Given the description of an element on the screen output the (x, y) to click on. 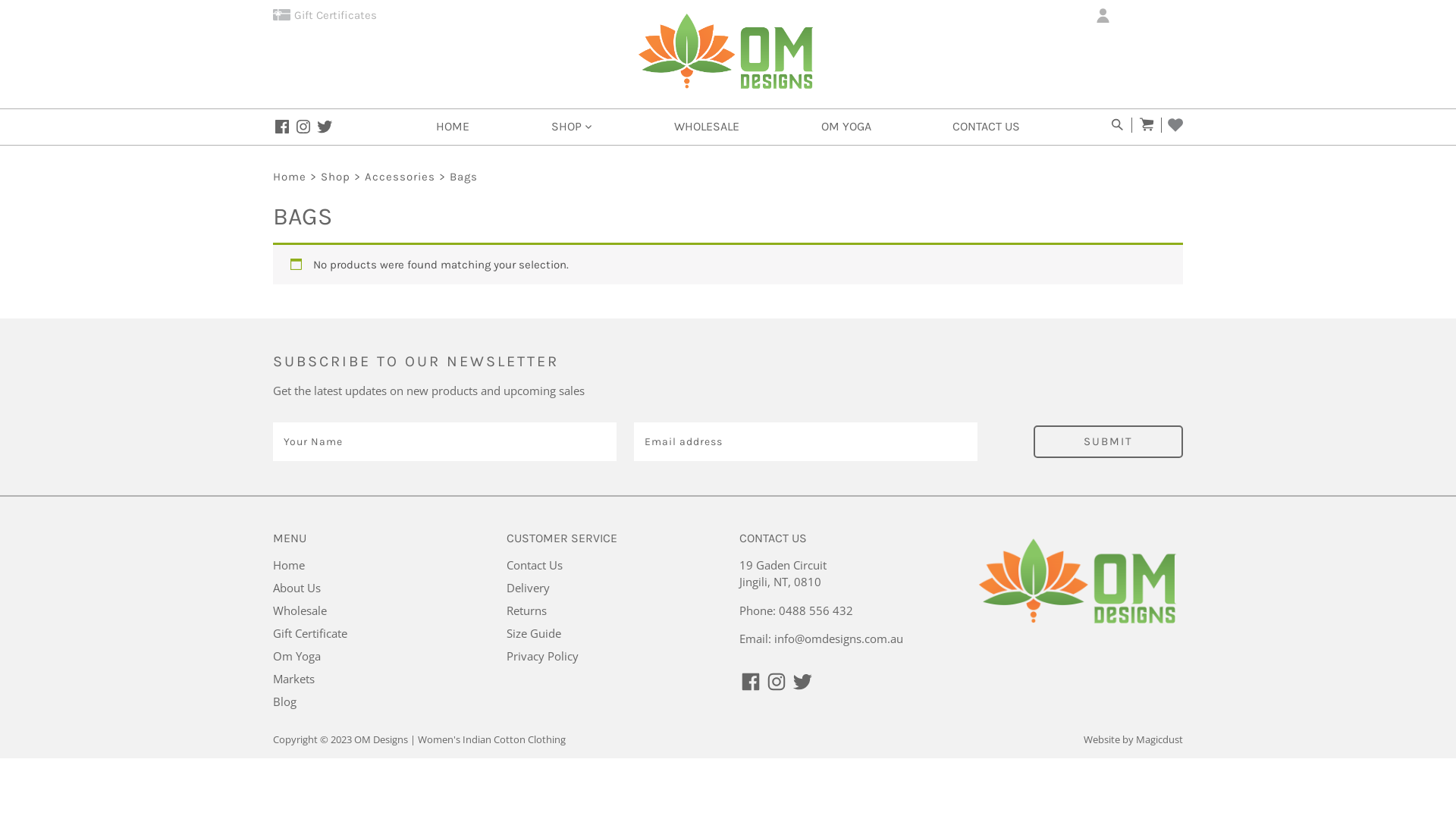
Home Element type: text (288, 564)
Gift Certificate Element type: text (310, 632)
Blog Element type: text (284, 701)
OM YOGA Element type: text (845, 126)
Markets Element type: text (293, 678)
Om Yoga Element type: text (296, 655)
info@omdesigns.com.au Element type: text (838, 638)
View cart (0 items) Element type: hover (1146, 124)
Login/Sign-up Element type: text (1138, 16)
CONTACT US Element type: text (985, 126)
HOME Element type: text (452, 126)
Shop Element type: text (335, 176)
About Us Element type: text (296, 587)
WHOLESALE Element type: text (706, 126)
Home Element type: text (289, 176)
Size Guide Element type: text (533, 632)
Returns Element type: text (526, 610)
Delivery Element type: text (527, 587)
Privacy Policy Element type: text (542, 655)
SHOP Element type: text (571, 126)
0488 556 432 Element type: text (815, 610)
Gift Certificates Element type: text (324, 15)
Accessories Element type: text (399, 176)
Submit Element type: text (1108, 441)
Wholesale Element type: text (299, 610)
Magicdust Element type: text (1159, 739)
Contact Us Element type: text (534, 564)
